Given the description of an element on the screen output the (x, y) to click on. 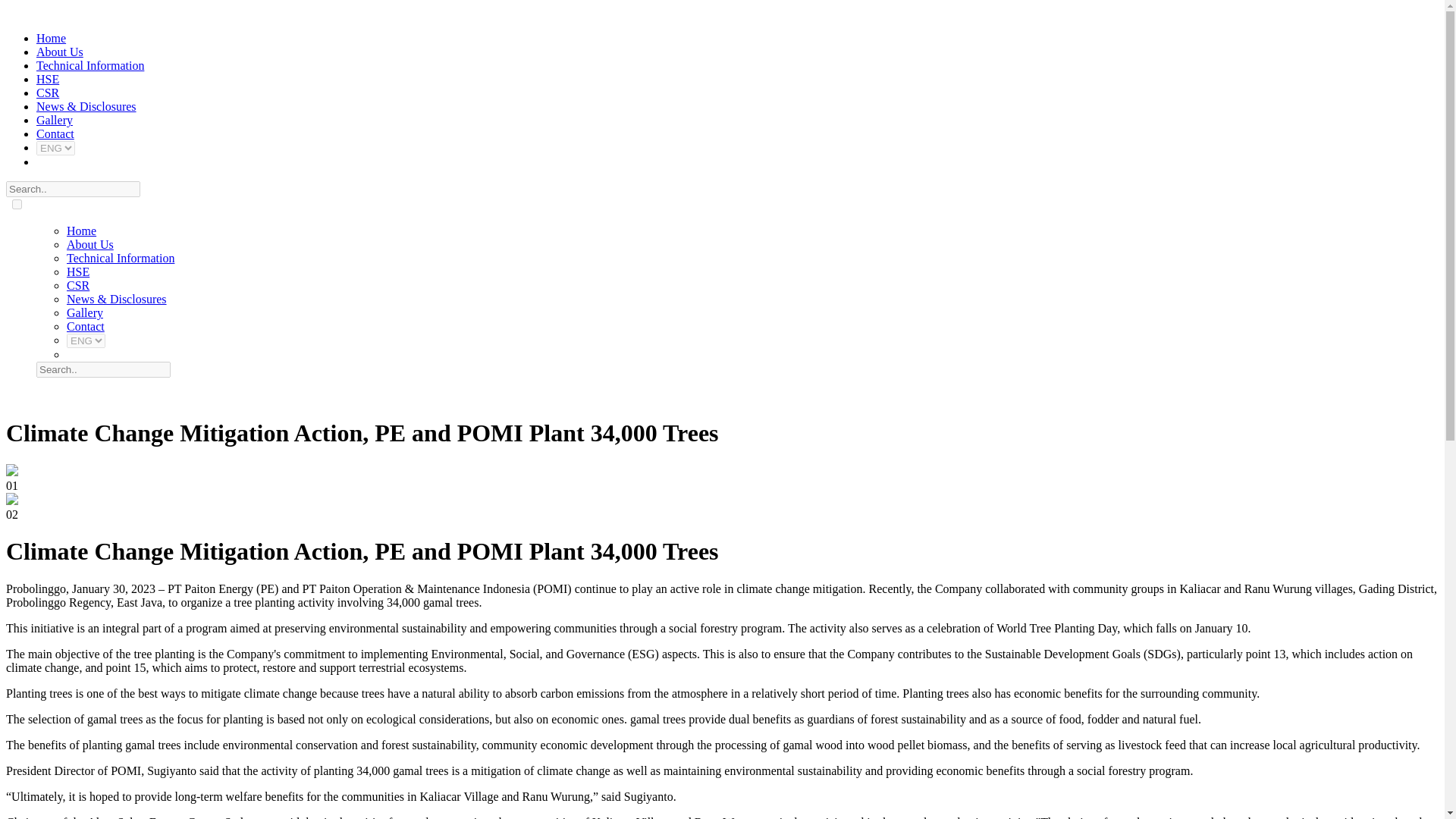
CSR (77, 285)
About Us (89, 244)
Gallery (54, 119)
Technical Information (120, 257)
About Us (59, 51)
Contact (55, 133)
on (16, 204)
Technical Information (90, 65)
Home (81, 230)
CSR (47, 92)
Home (50, 38)
HSE (77, 271)
HSE (47, 78)
Gallery (84, 312)
Contact (85, 326)
